Given the description of an element on the screen output the (x, y) to click on. 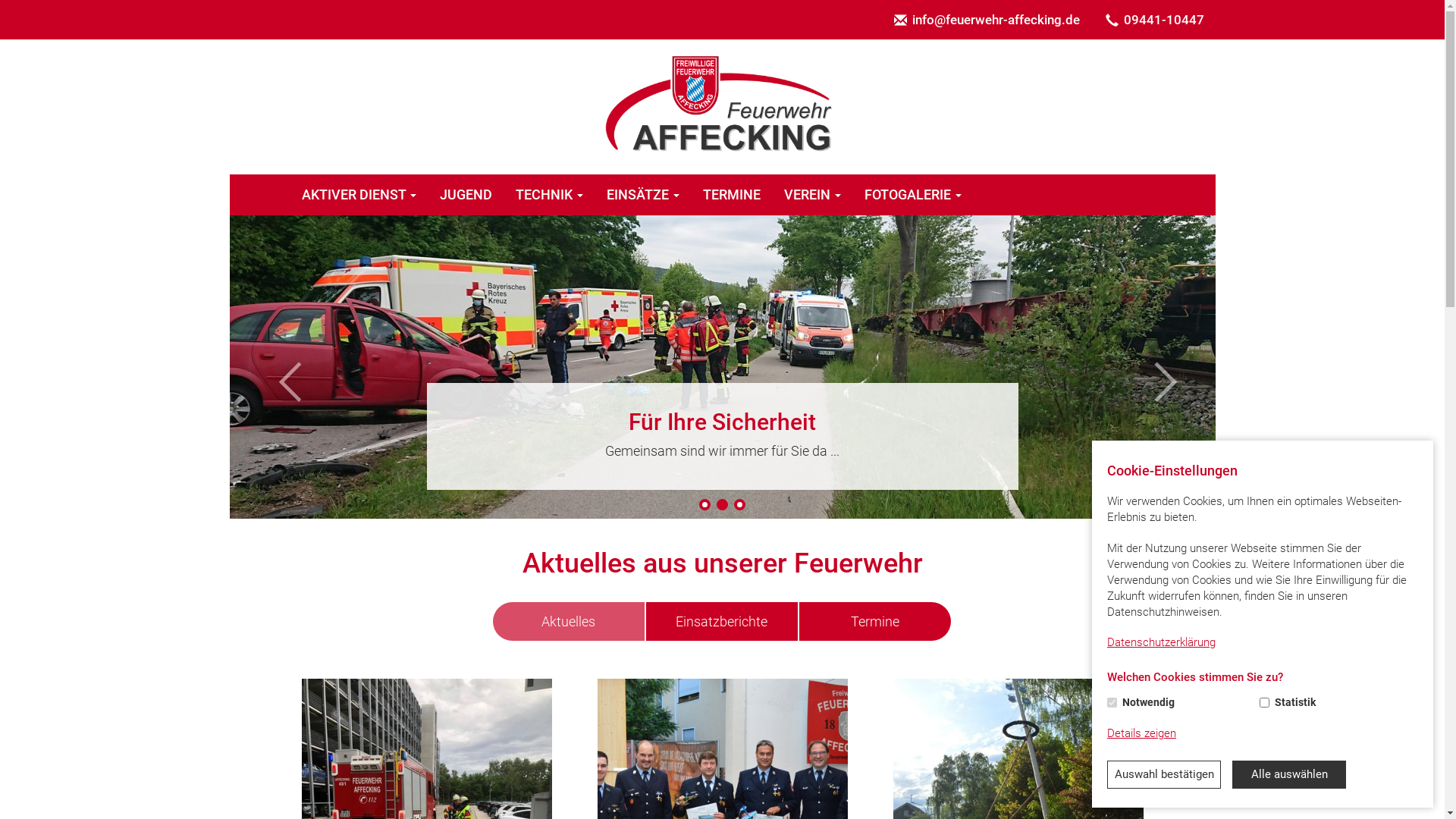
VEREIN Element type: text (811, 194)
Details zeigen Element type: text (1141, 733)
Einsatzberichte Element type: text (721, 621)
AKTIVER DIENST Element type: text (358, 194)
Termine Element type: text (874, 621)
Aktuelles Element type: text (568, 621)
TECHNIK Element type: text (548, 194)
FOTOGALERIE Element type: text (912, 194)
TERMINE Element type: text (731, 194)
info@feuerwehr-affecking.de Element type: text (986, 19)
09441-10447 Element type: text (1153, 19)
JUGEND Element type: text (465, 194)
